Given the description of an element on the screen output the (x, y) to click on. 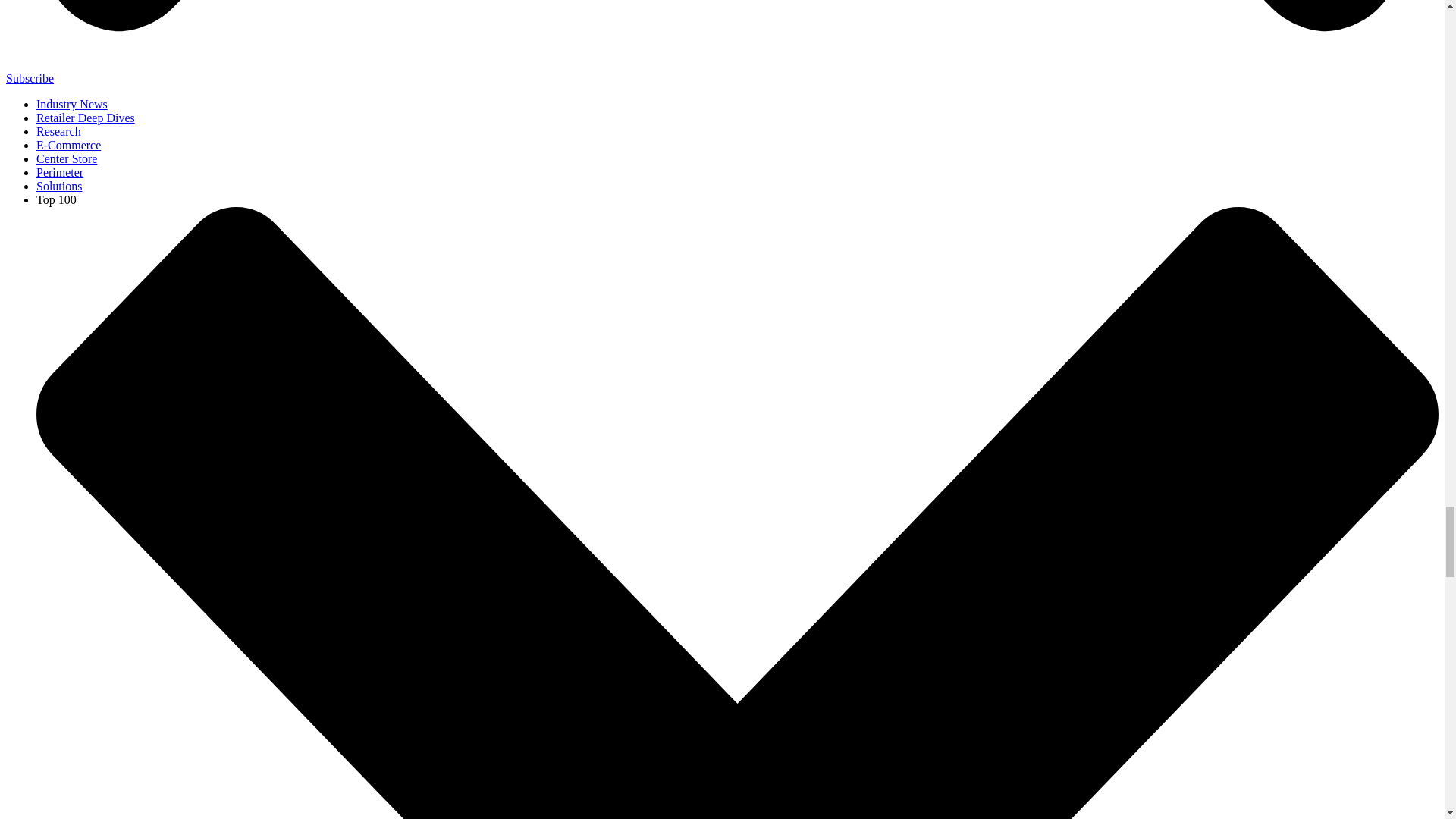
Subscribe (29, 78)
Industry News (71, 103)
Solutions (58, 185)
Perimeter (59, 172)
E-Commerce (68, 144)
Retailer Deep Dives (85, 117)
Top 100 (56, 199)
Center Store (66, 158)
Research (58, 131)
